Given the description of an element on the screen output the (x, y) to click on. 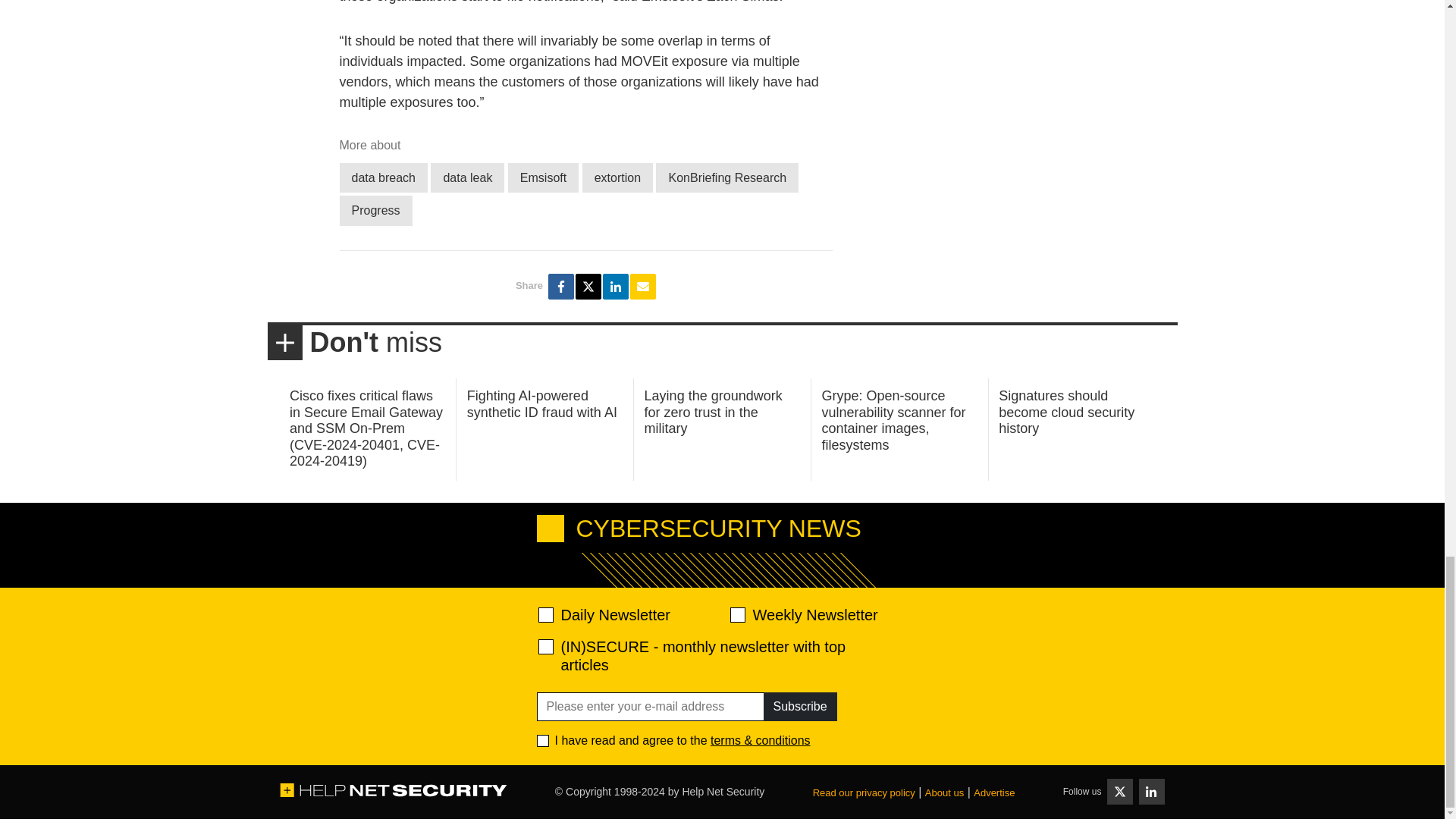
data breach (383, 177)
520ac2f639 (545, 614)
extortion (617, 177)
data leak (466, 177)
1 (542, 740)
Emsisoft (543, 177)
data breach (383, 177)
extortion (617, 177)
Emsisoft (543, 177)
Progress (375, 210)
data leak (466, 177)
KonBriefing Research (726, 177)
Progress (375, 210)
KonBriefing Research (726, 177)
28abe5d9ef (545, 646)
